Given the description of an element on the screen output the (x, y) to click on. 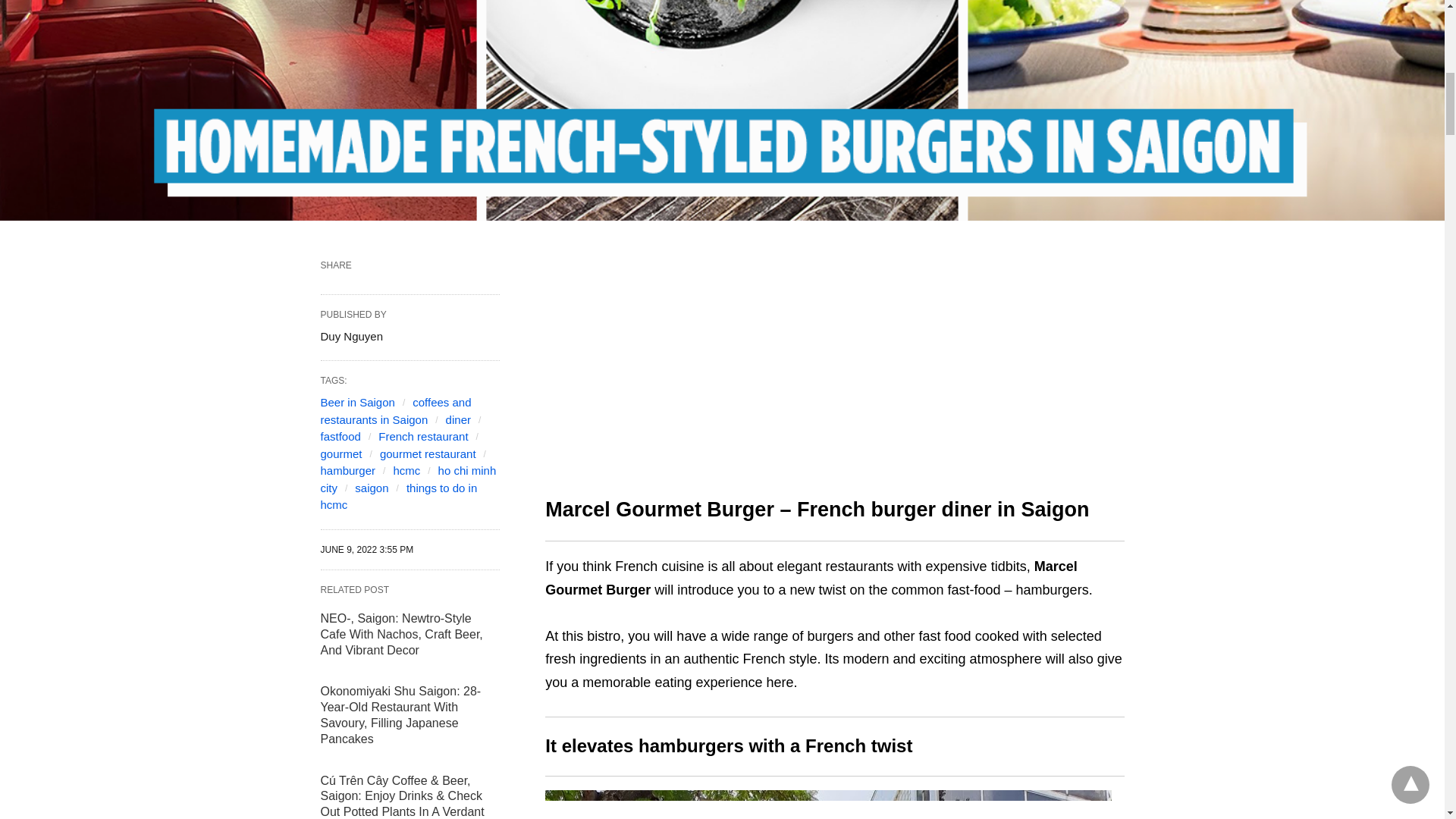
hcmc (406, 470)
saigon (371, 487)
diner (457, 419)
fastfood (339, 436)
Beer in Saigon (357, 401)
French restaurant (422, 436)
things to do in hcmc (398, 496)
gourmet restaurant (428, 453)
coffees and restaurants in Saigon (395, 410)
gourmet (340, 453)
